Given the description of an element on the screen output the (x, y) to click on. 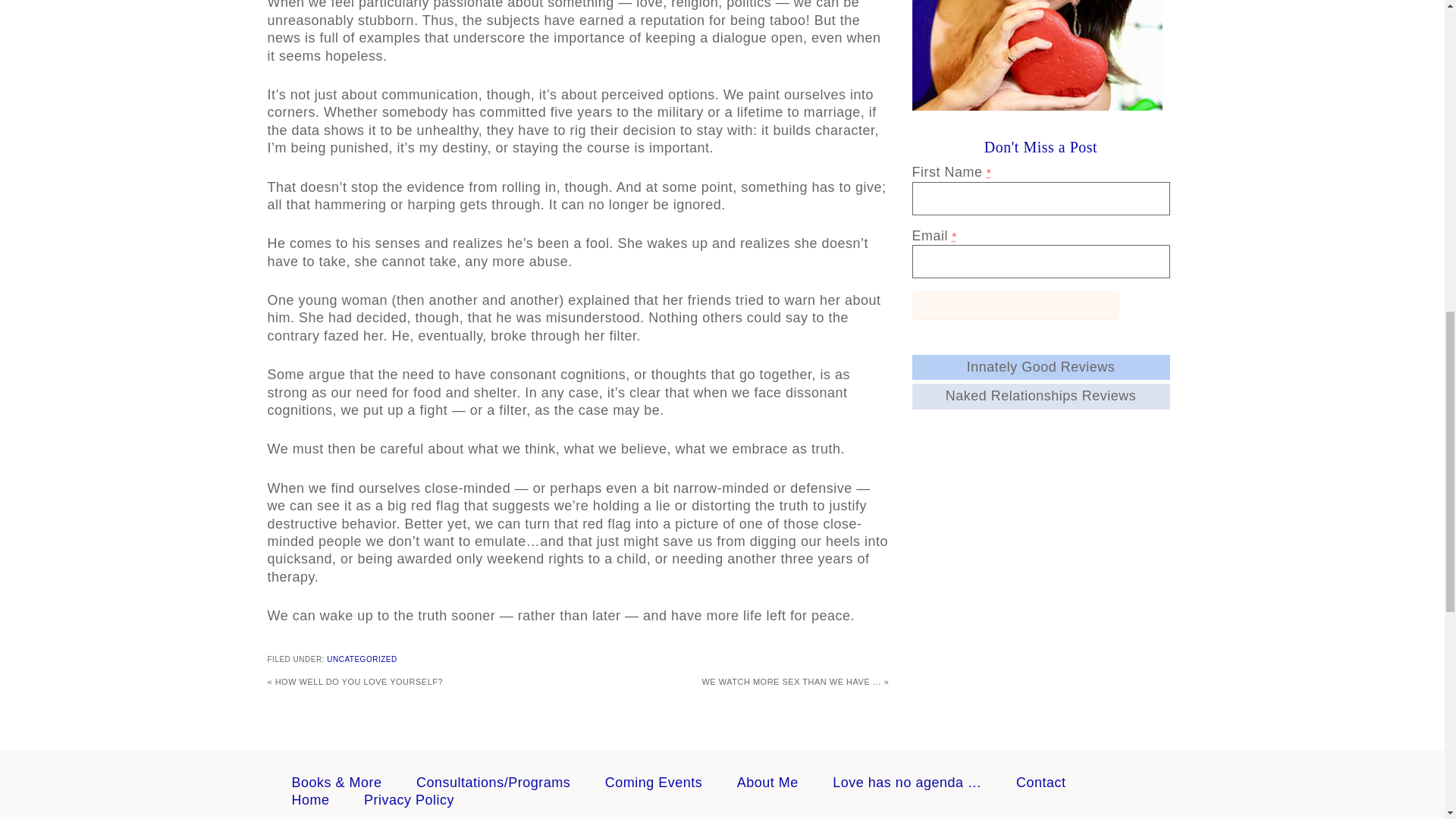
Sign up for Newsletter (1015, 305)
UNCATEGORIZED (361, 659)
Coming Events (654, 782)
Privacy Policy (409, 799)
Innately Good Reviews (1040, 366)
Contact (1040, 782)
Naked Relationships Reviews (1040, 395)
Home (310, 799)
About Me (766, 782)
Sign up for Newsletter (1015, 305)
